Given the description of an element on the screen output the (x, y) to click on. 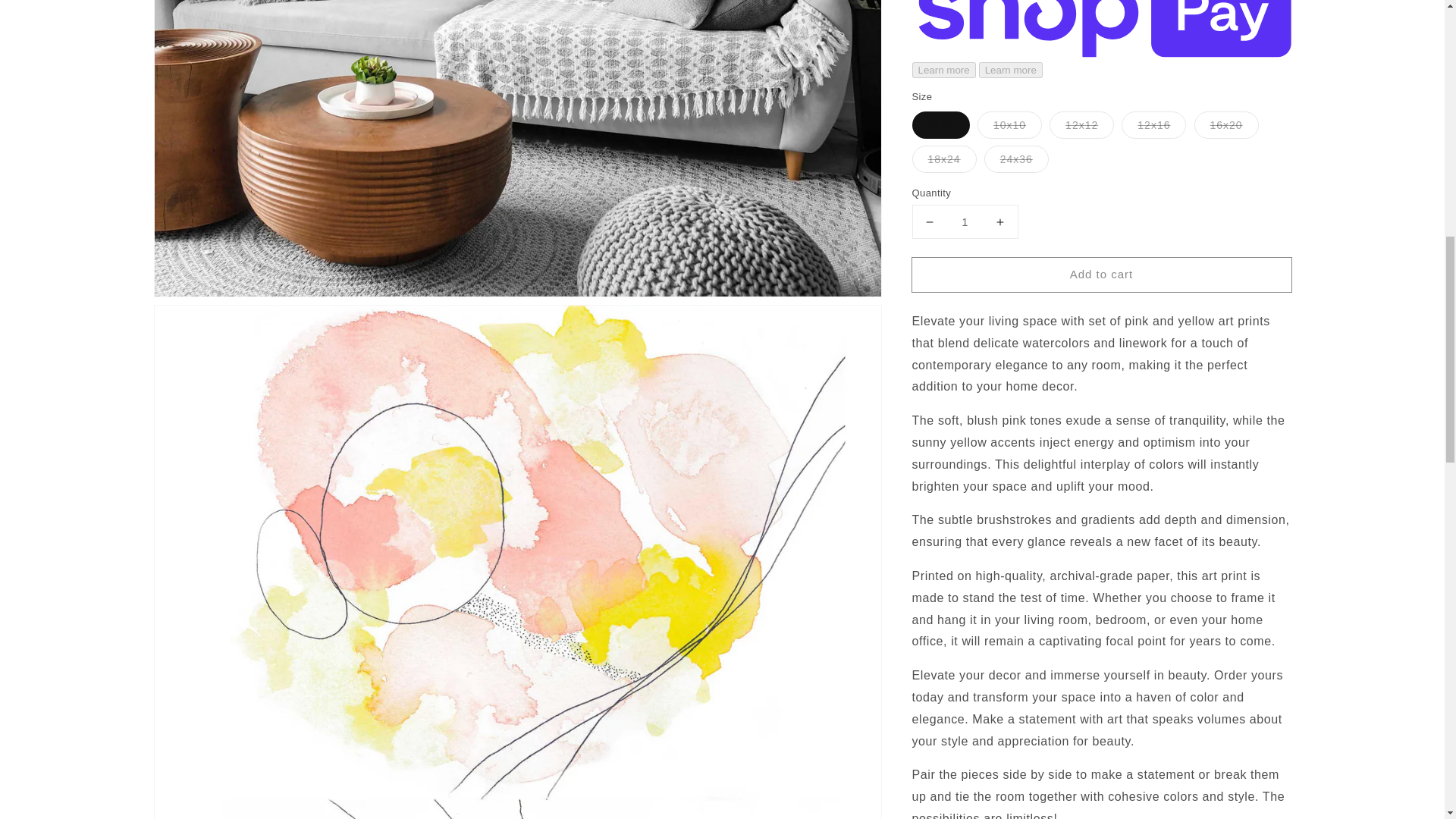
here (1173, 742)
